Given the description of an element on the screen output the (x, y) to click on. 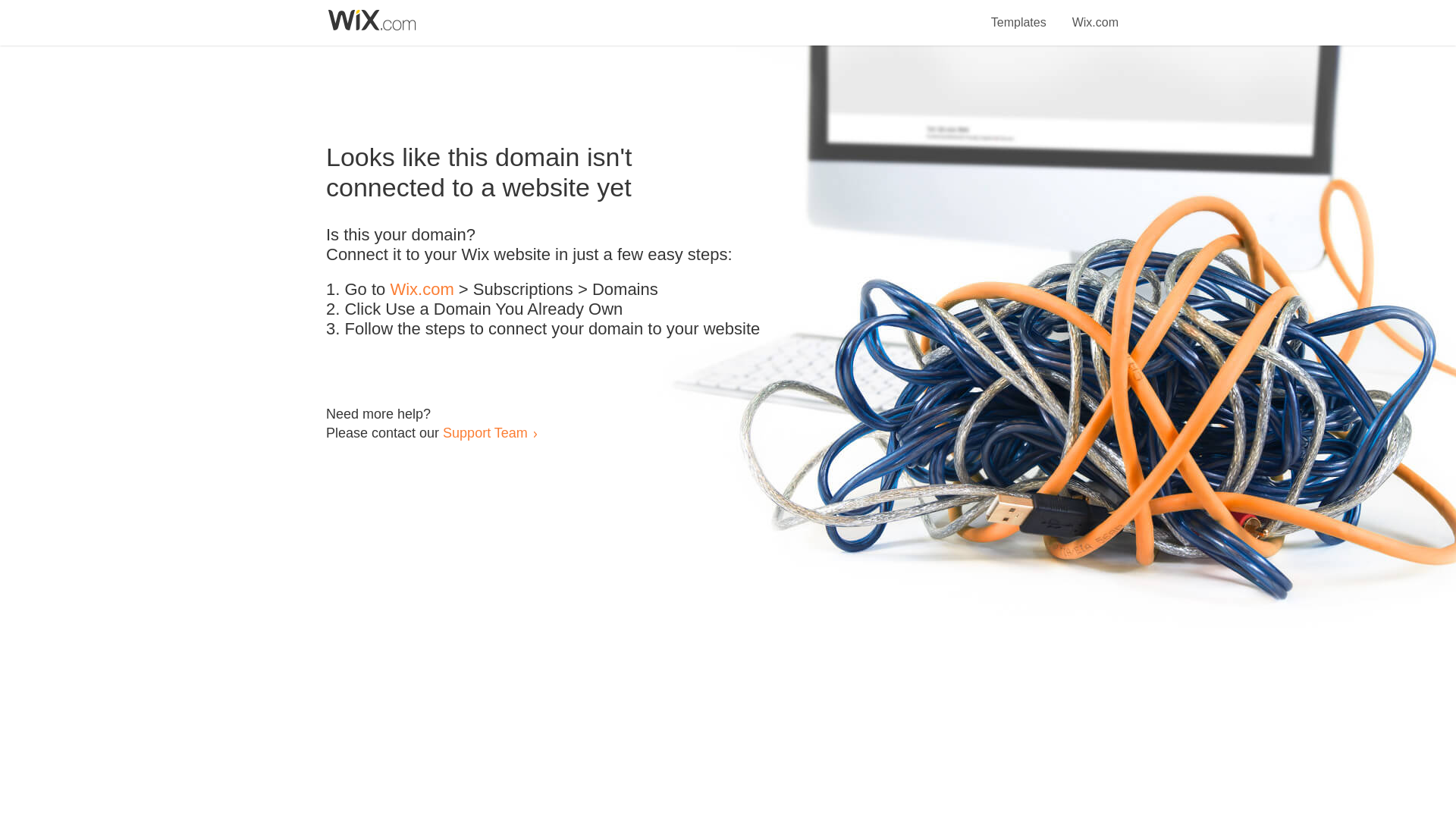
Support Team (484, 432)
Templates (1018, 14)
Wix.com (421, 289)
Wix.com (1095, 14)
